Given the description of an element on the screen output the (x, y) to click on. 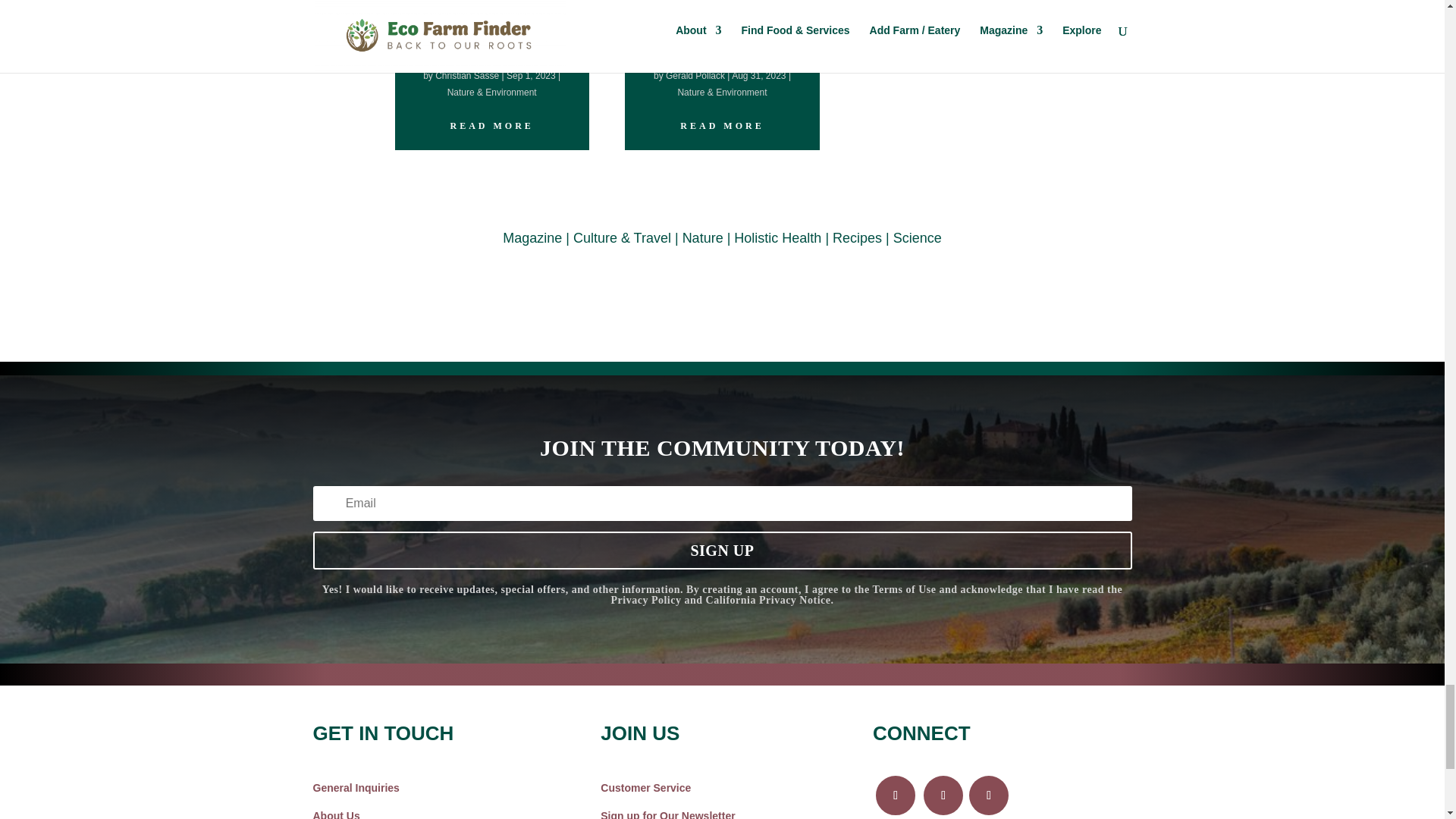
Magazine (532, 237)
READ MORE (490, 125)
Follow on X (989, 794)
The Fourth Phase of Water (721, 36)
Posts by Christian Sasse (467, 75)
Posts by Gerald Pollack (695, 75)
Follow on Instagram (942, 794)
Follow on Facebook (895, 795)
READ MORE (720, 125)
Christian Sasse (467, 75)
Gerald Pollack (695, 75)
